Given the description of an element on the screen output the (x, y) to click on. 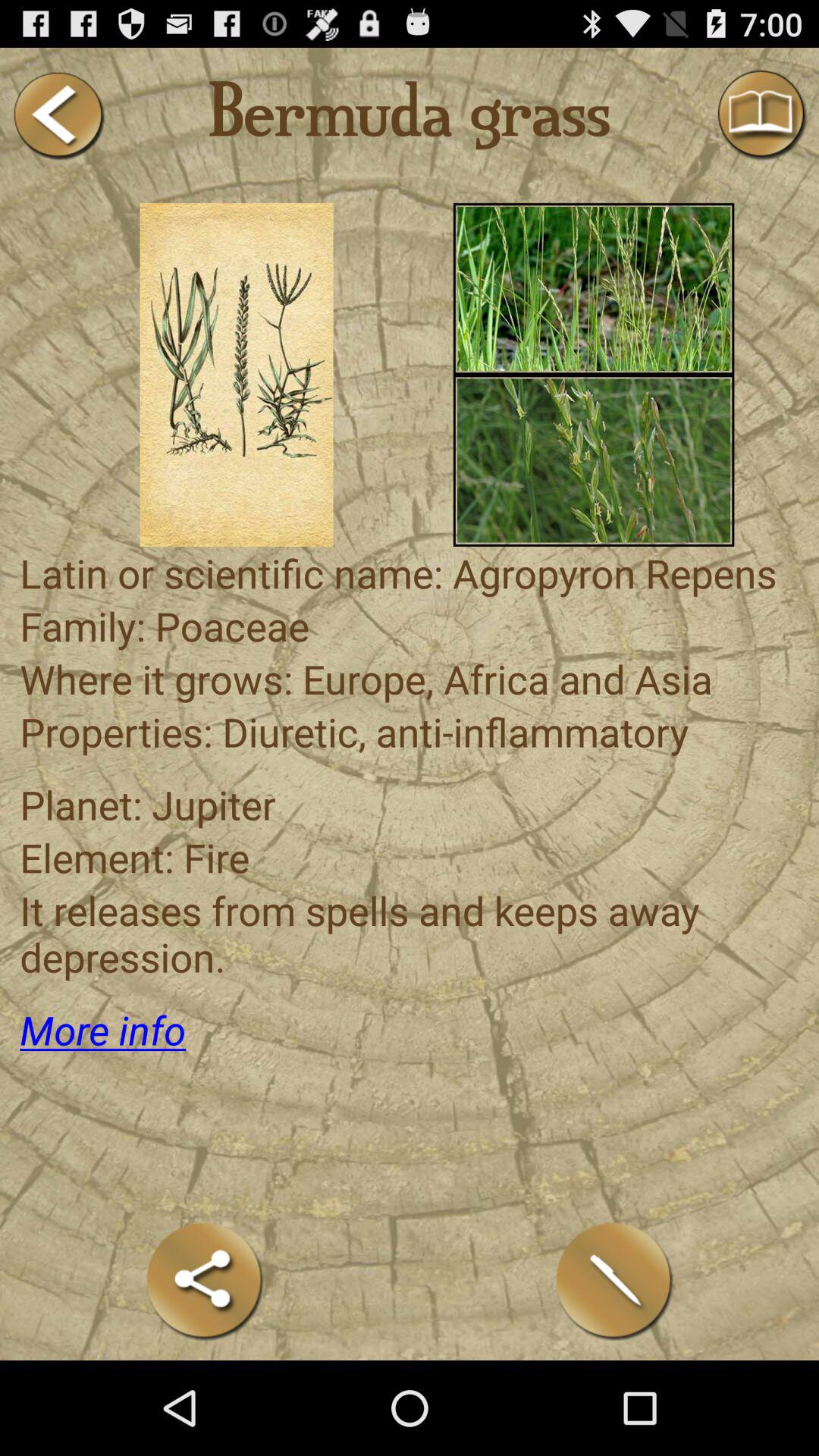
choose the share option (204, 1280)
